Given the description of an element on the screen output the (x, y) to click on. 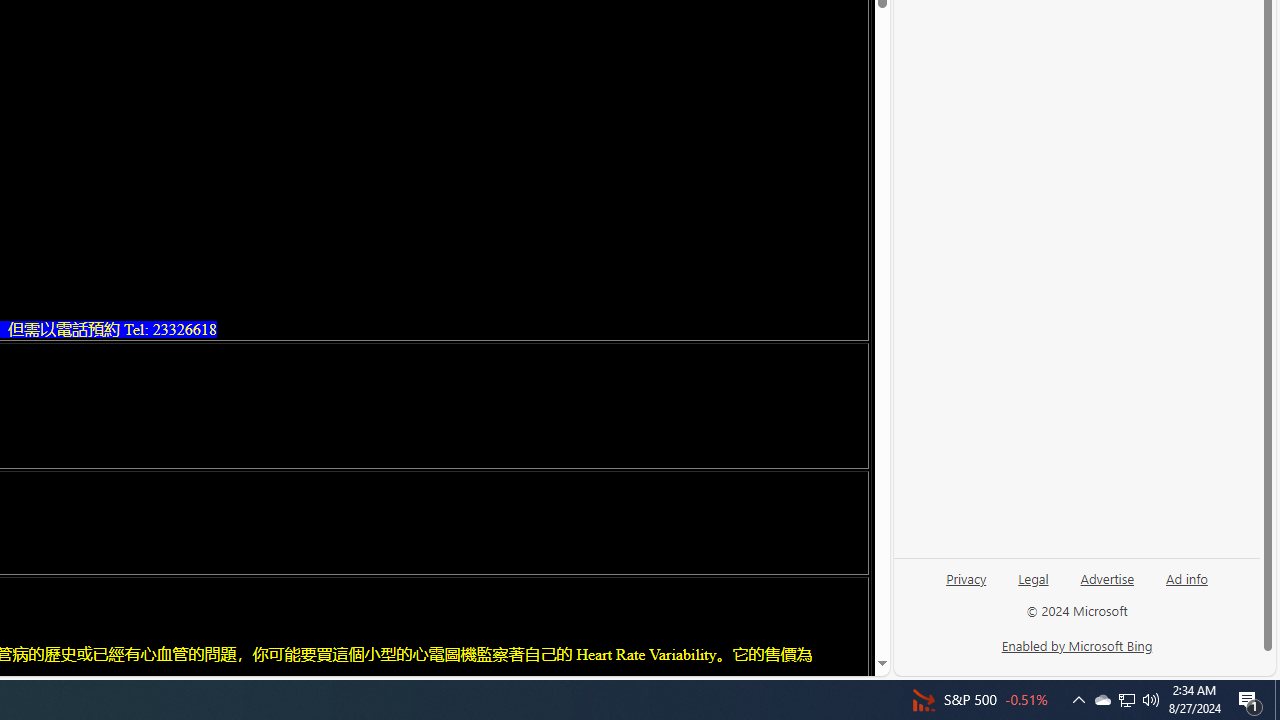
Privacy (965, 577)
Privacy (966, 586)
Advertise (1107, 577)
Legal (1033, 586)
Legal (1033, 577)
Advertise (1106, 586)
Ad info (1186, 586)
Ad info (1187, 577)
